Given the description of an element on the screen output the (x, y) to click on. 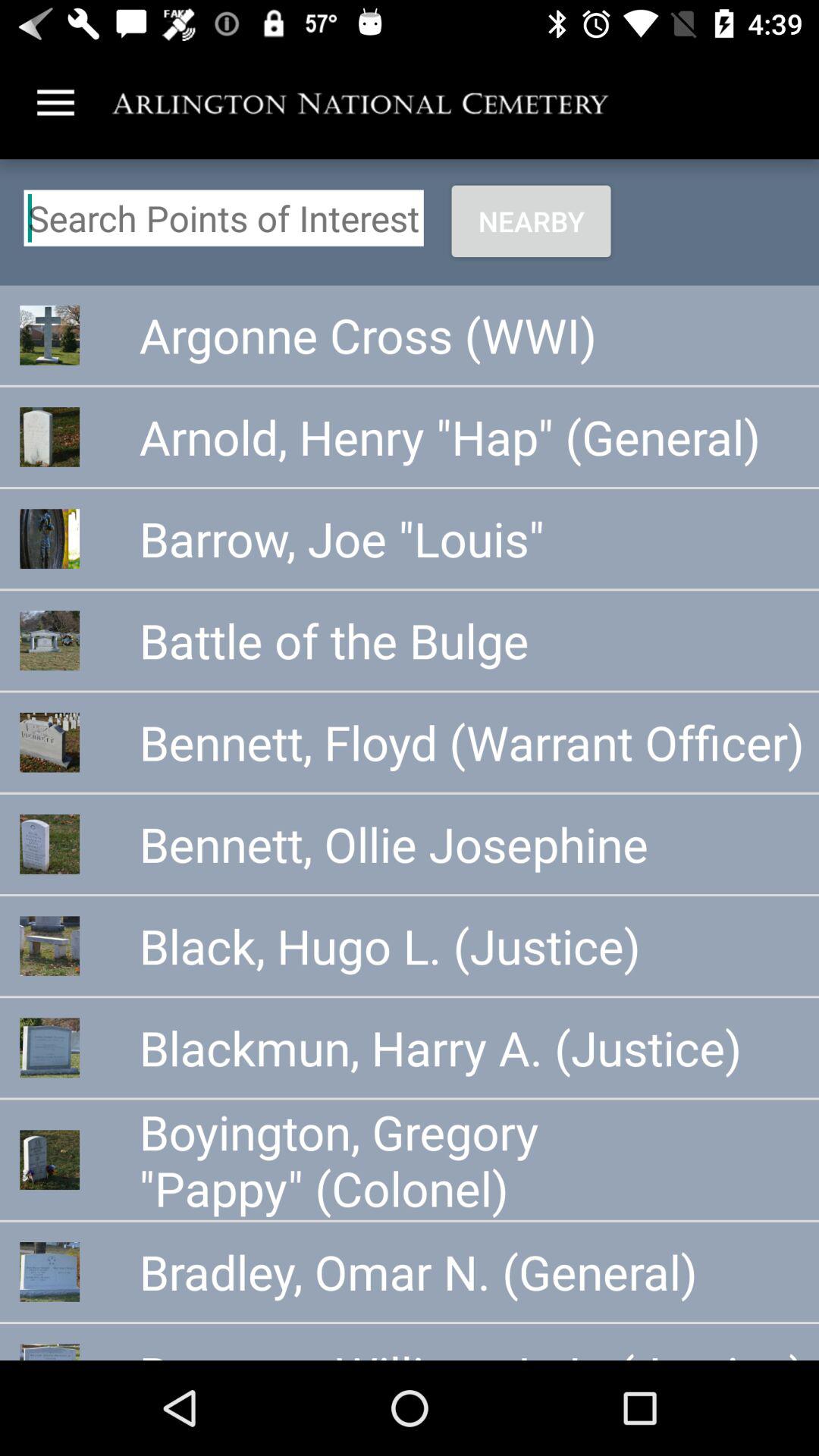
search this site (223, 217)
